Given the description of an element on the screen output the (x, y) to click on. 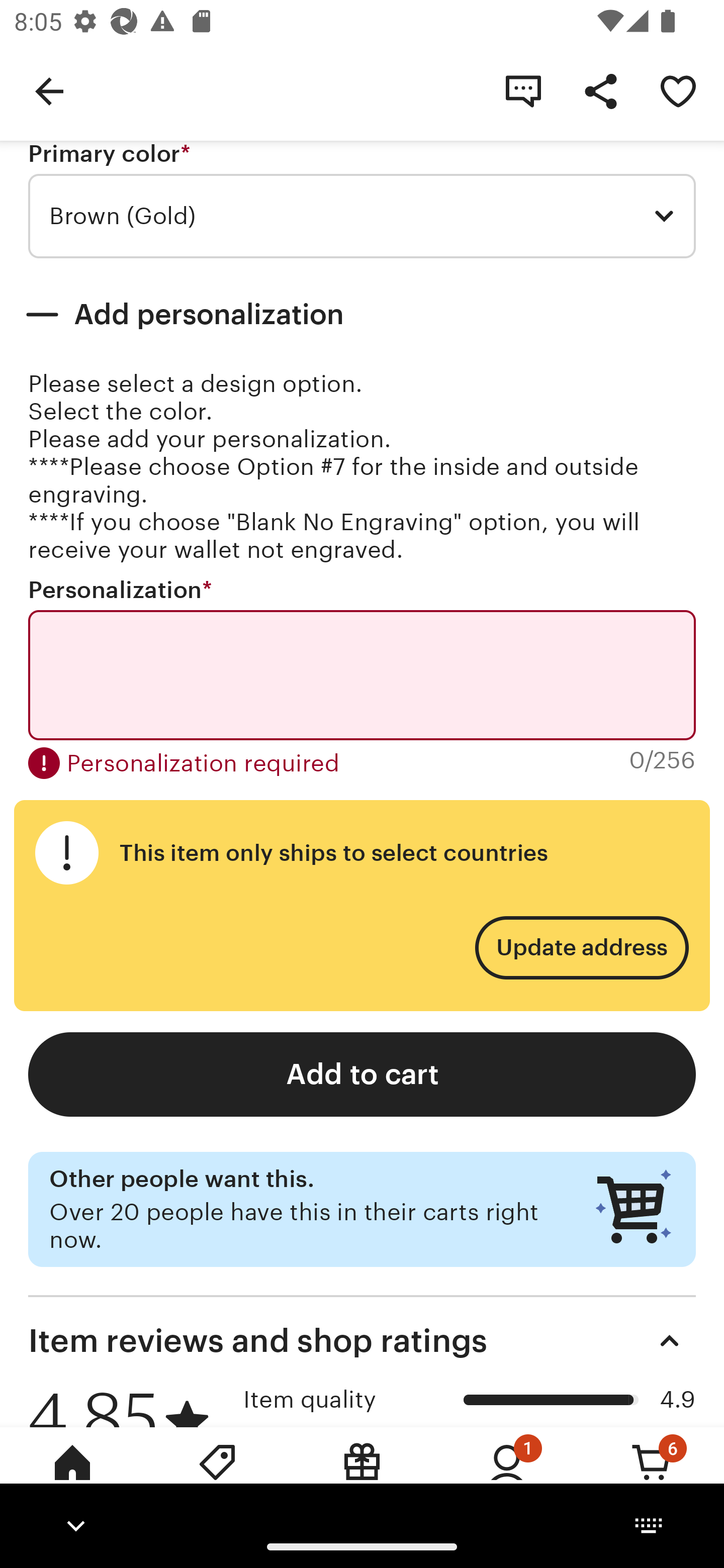
Navigate up (49, 90)
Contact shop (523, 90)
Share (600, 90)
Primary color * Required Brown (Gold) (361, 199)
Brown (Gold) (361, 216)
Add personalization Add personalization Required (362, 314)
Update address (581, 947)
Add to cart (361, 1073)
Item reviews and shop ratings (362, 1340)
Deals (216, 1475)
Gift Mode (361, 1475)
You, 1 new notification (506, 1475)
Cart, 6 new notifications (651, 1475)
